Given the description of an element on the screen output the (x, y) to click on. 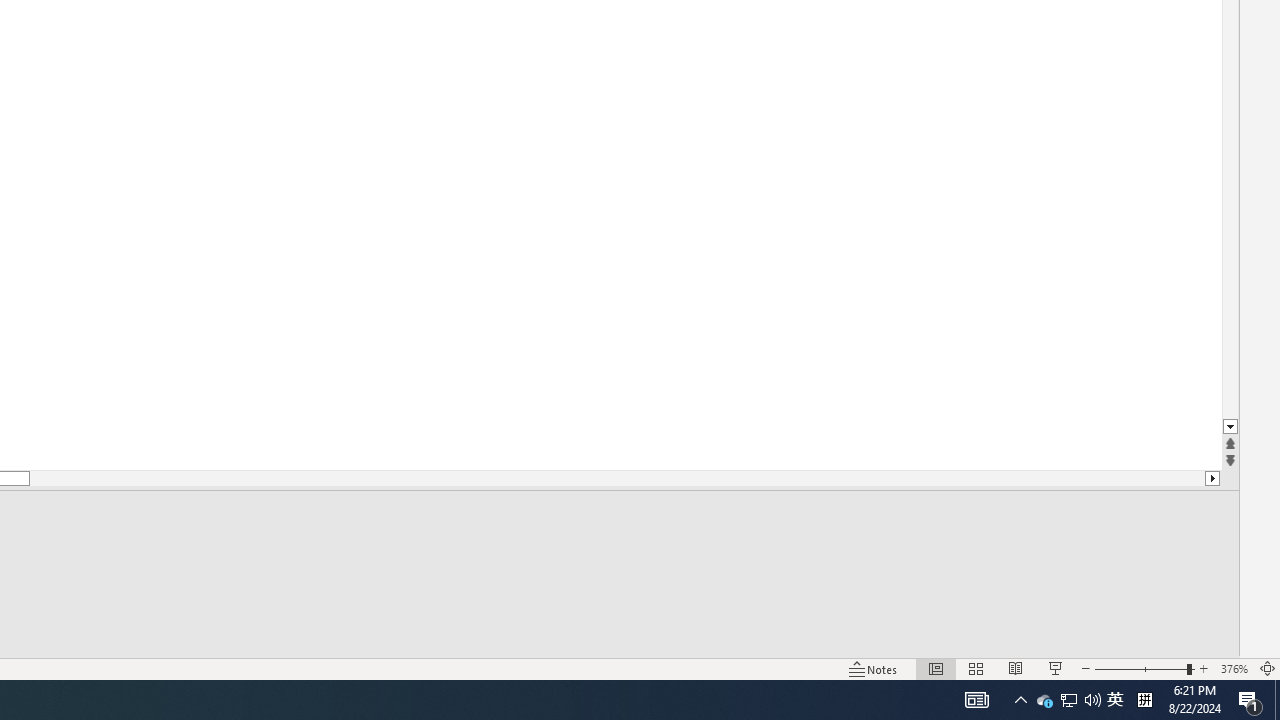
Zoom 376% (1234, 668)
